Given the description of an element on the screen output the (x, y) to click on. 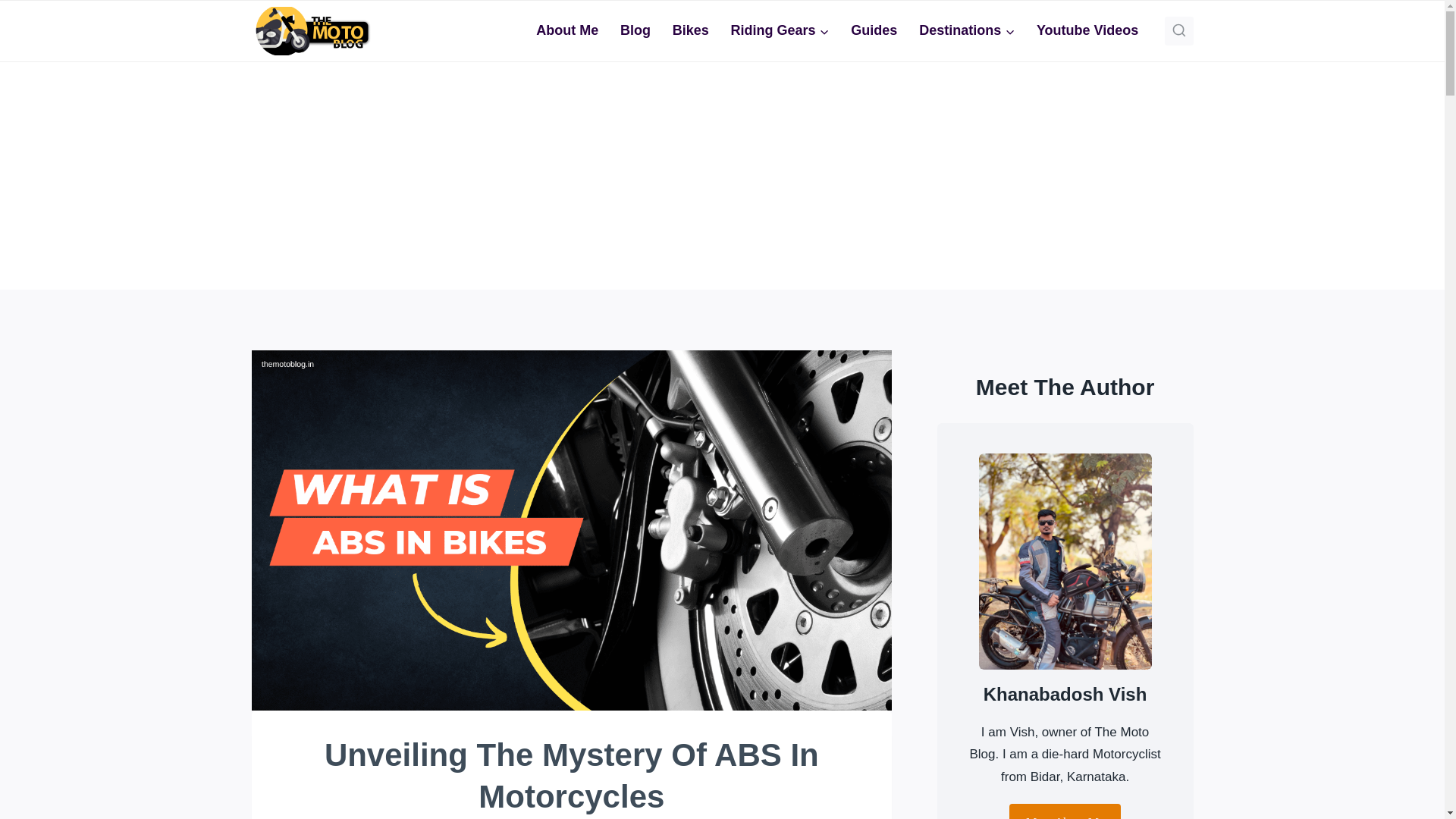
Youtube Videos (1088, 30)
Destinations (967, 30)
Bikes (690, 30)
Blog (636, 30)
Guides (874, 30)
About Me (567, 30)
Riding Gears (779, 30)
